Given the description of an element on the screen output the (x, y) to click on. 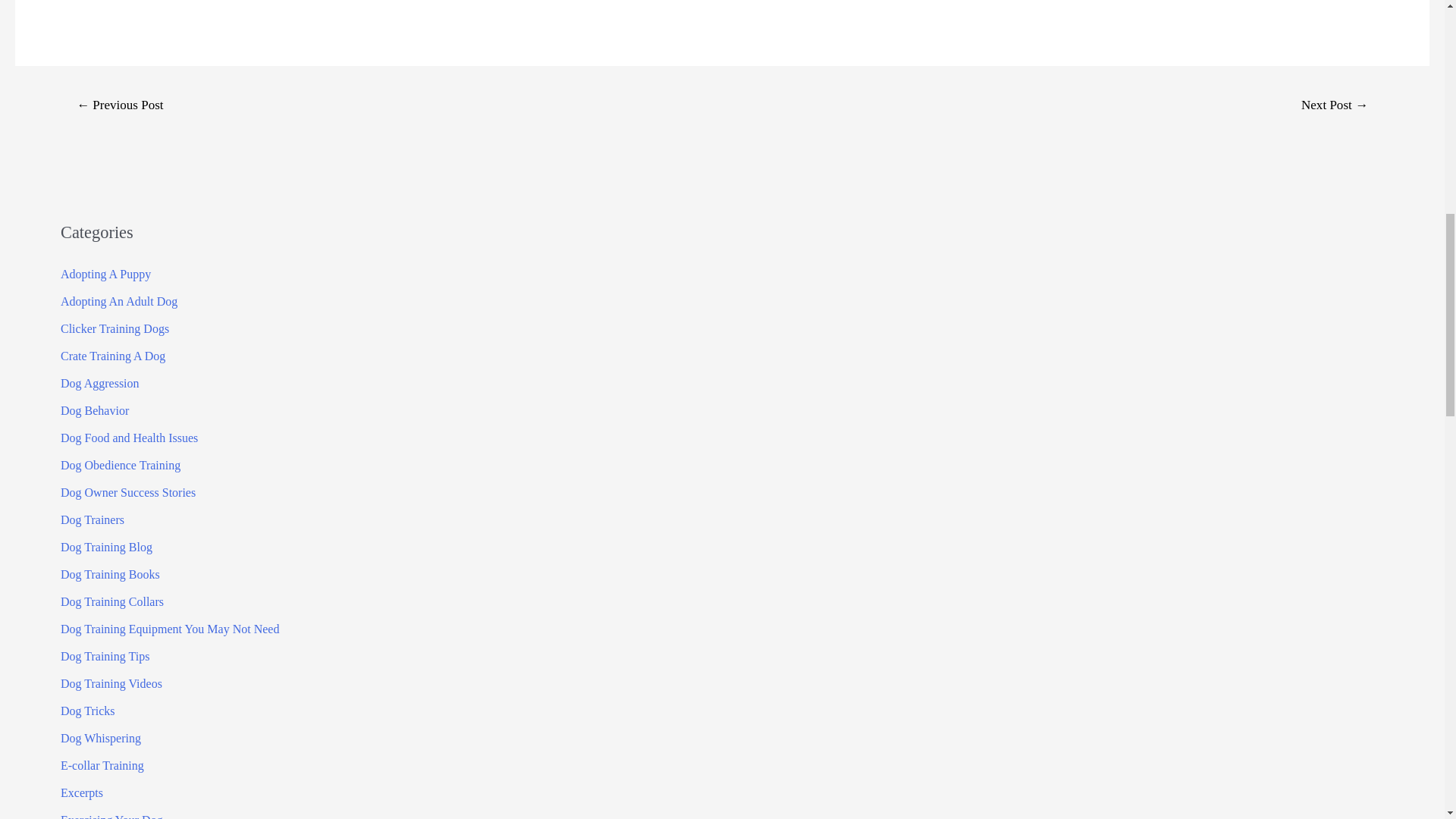
Dog Tricks (88, 710)
Crate Training A Dog (113, 355)
Dog Trainers (92, 519)
Dog Training Videos (111, 683)
Dog Aggression (100, 382)
Dog Training Blog (106, 546)
Adopting A Puppy (106, 273)
Dog Training Books (110, 574)
Dog Behavior (95, 410)
Clicker Training Dogs (114, 328)
E-collar Training (102, 765)
Adopting An Adult Dog (119, 300)
Dog Training Collars (112, 601)
Dog Owner Success Stories (128, 492)
Dog Food and Health Issues (129, 437)
